Given the description of an element on the screen output the (x, y) to click on. 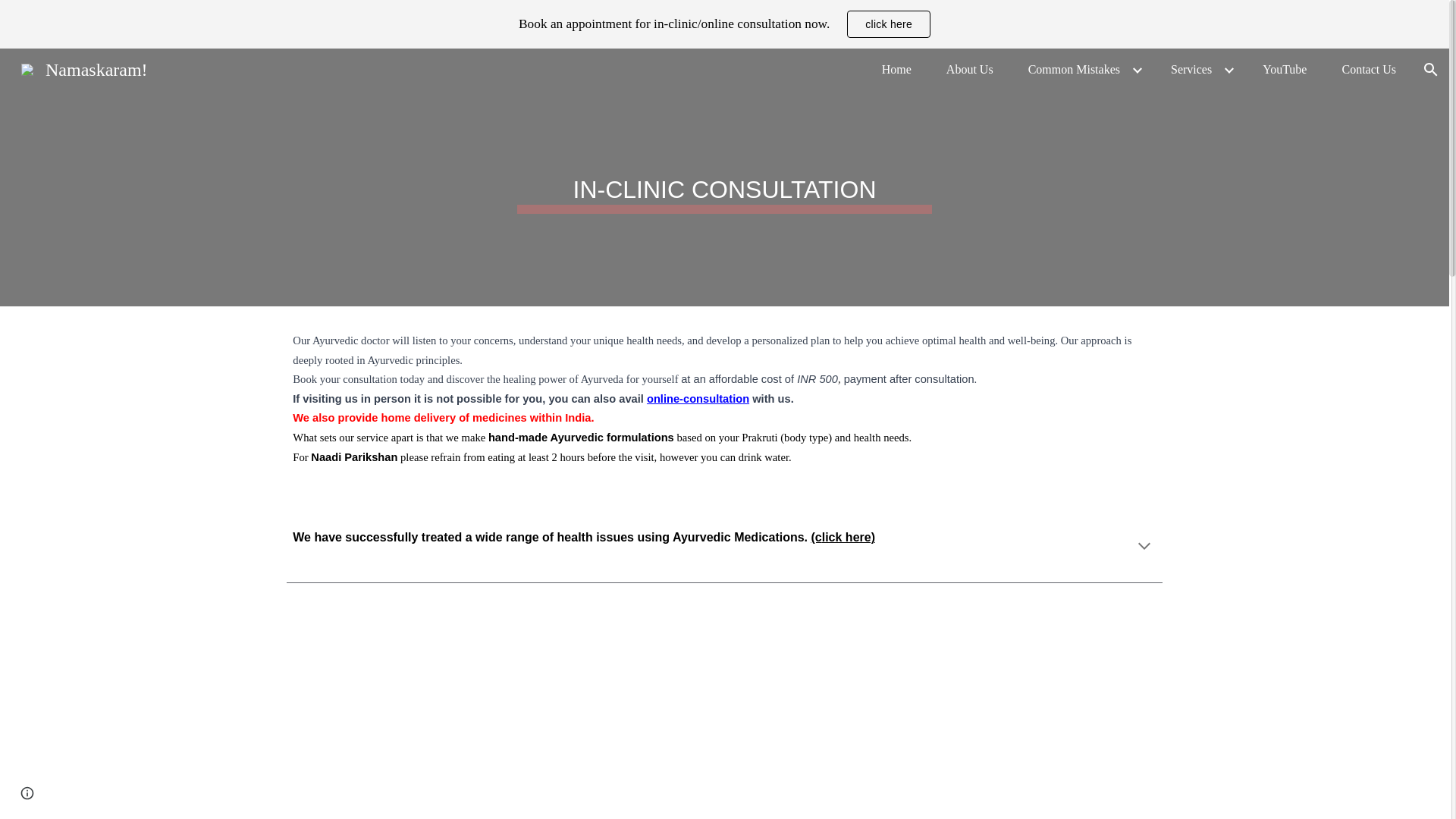
Common Mistakes (1073, 69)
click here (888, 23)
Home (896, 69)
About Us (970, 69)
click here (888, 23)
Namaskaram! (84, 67)
